Given the description of an element on the screen output the (x, y) to click on. 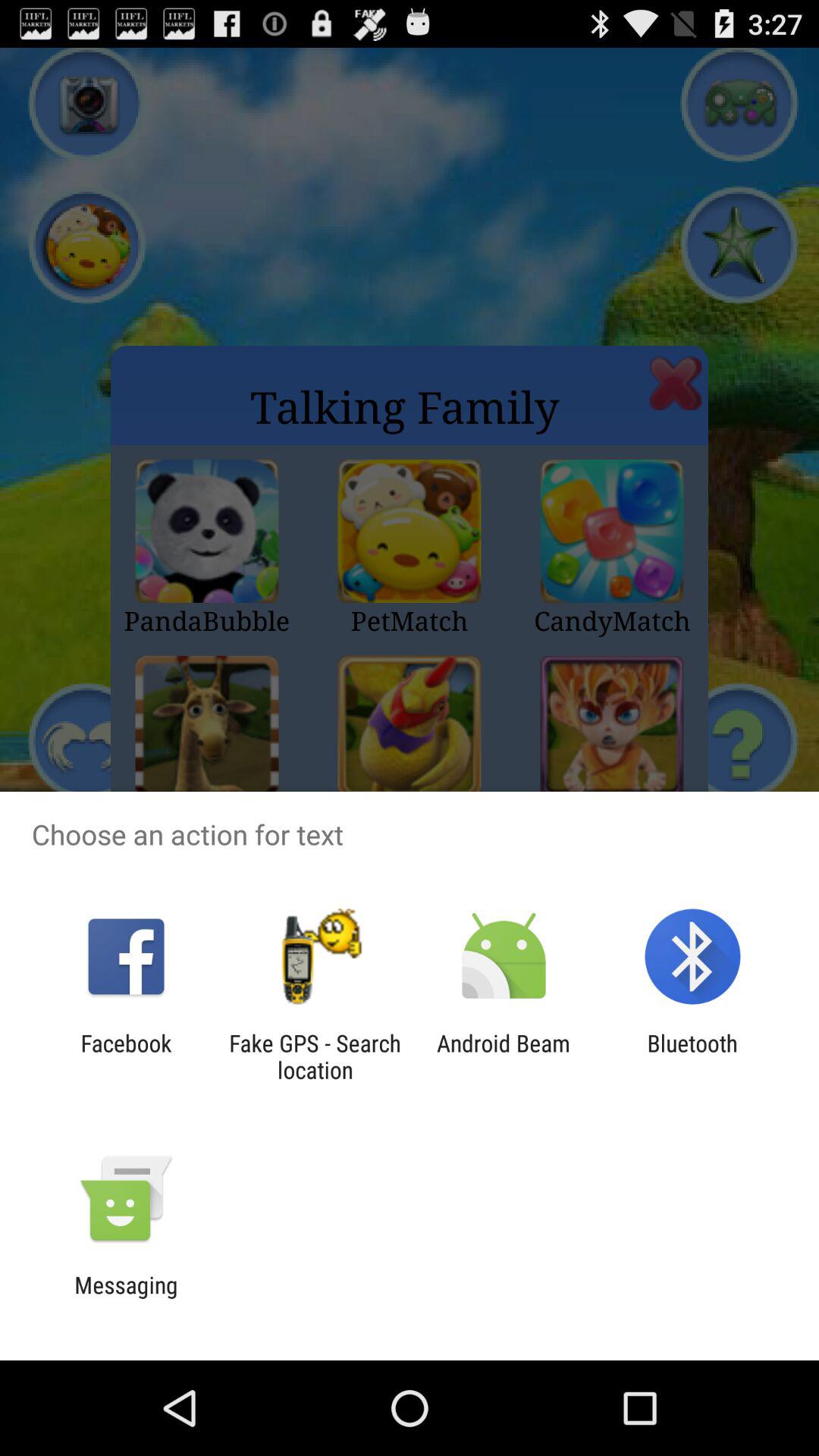
jump to facebook item (125, 1056)
